Given the description of an element on the screen output the (x, y) to click on. 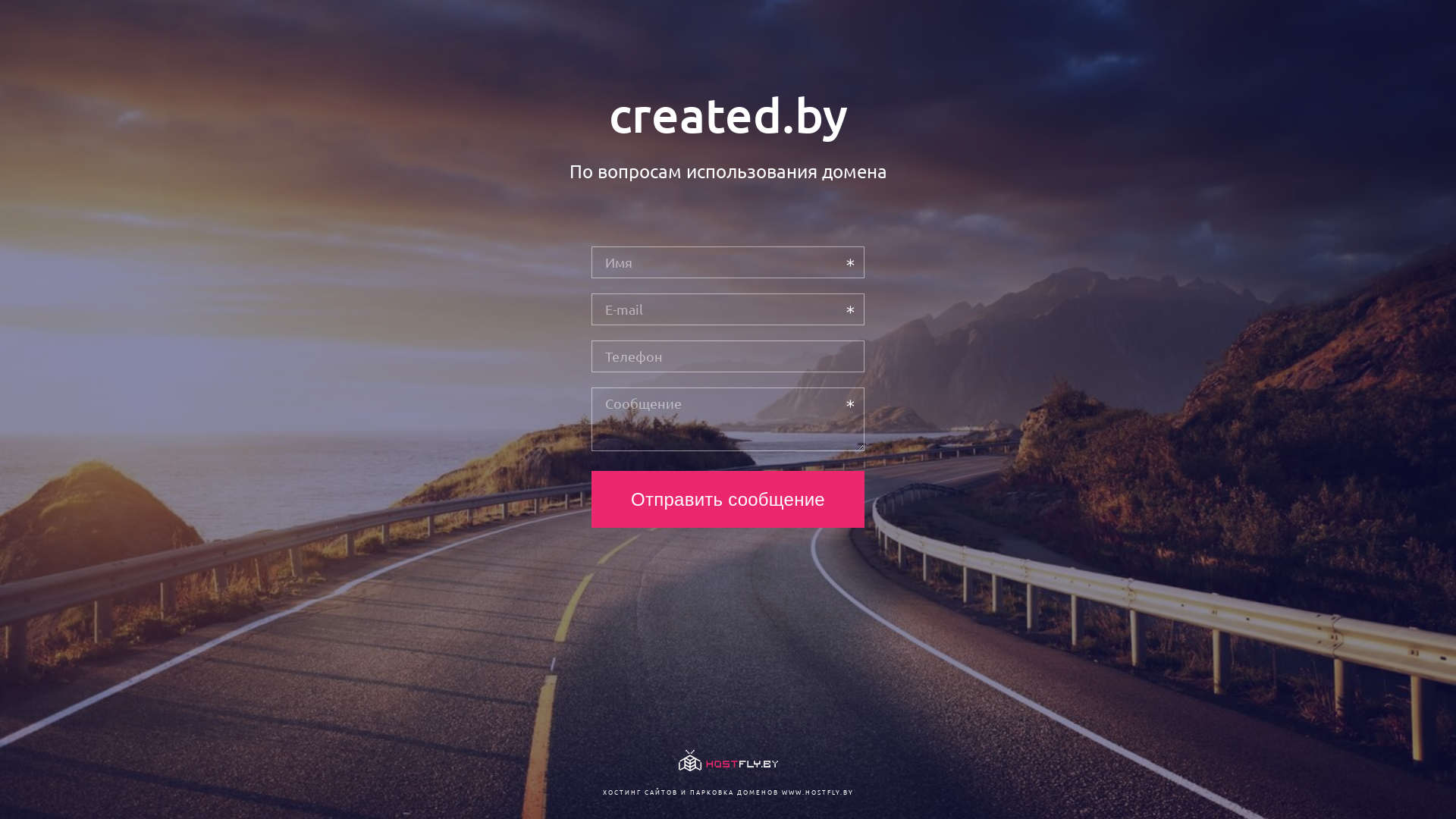
WWW.HOSTFLY.BY Element type: text (817, 791)
